Given the description of an element on the screen output the (x, y) to click on. 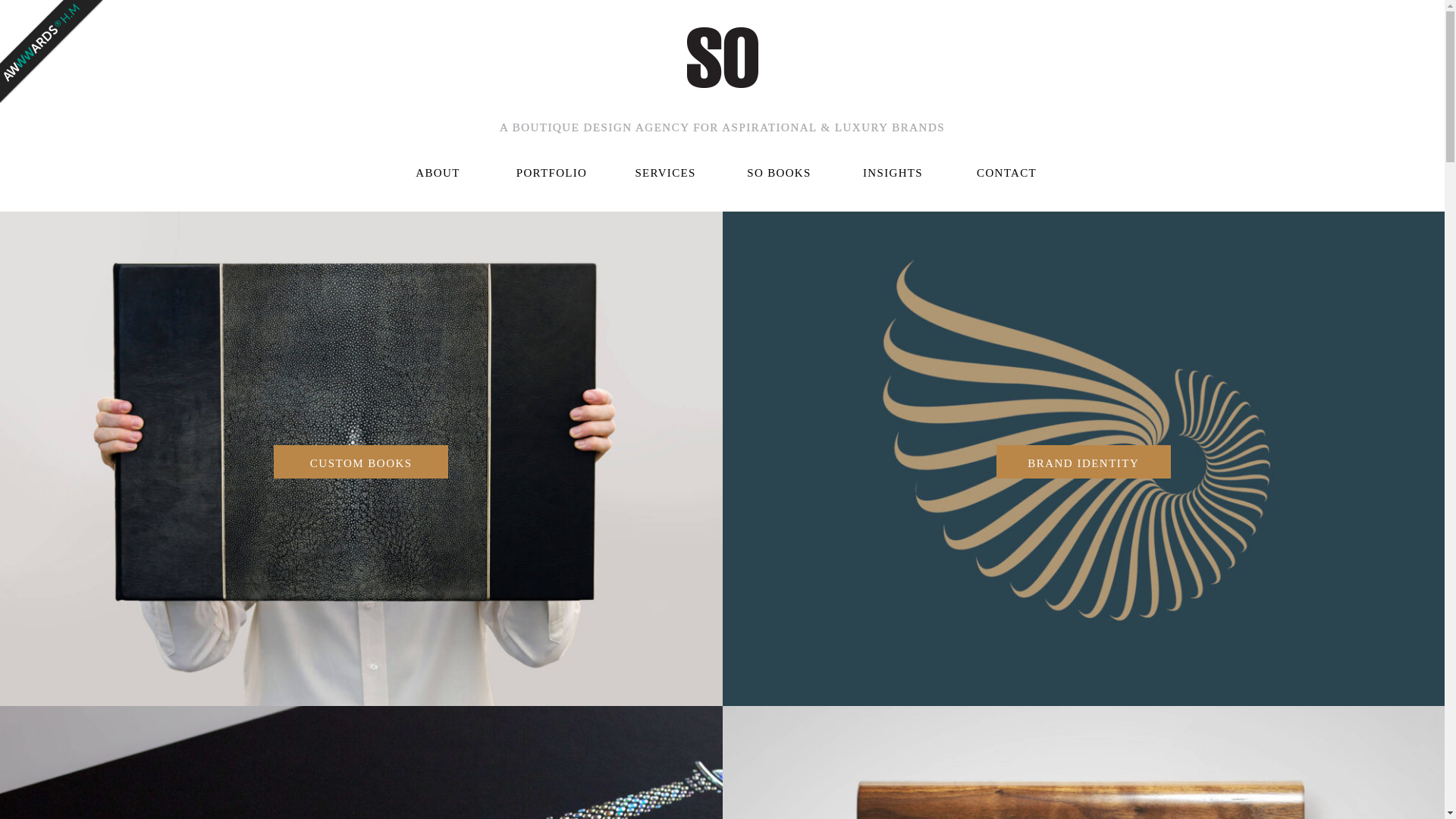
PORTFOLIO (551, 171)
INSIGHTS (892, 171)
CONTACT (1006, 171)
ABOUT (437, 171)
SERVICES (665, 171)
SO BOOKS (779, 171)
